Given the description of an element on the screen output the (x, y) to click on. 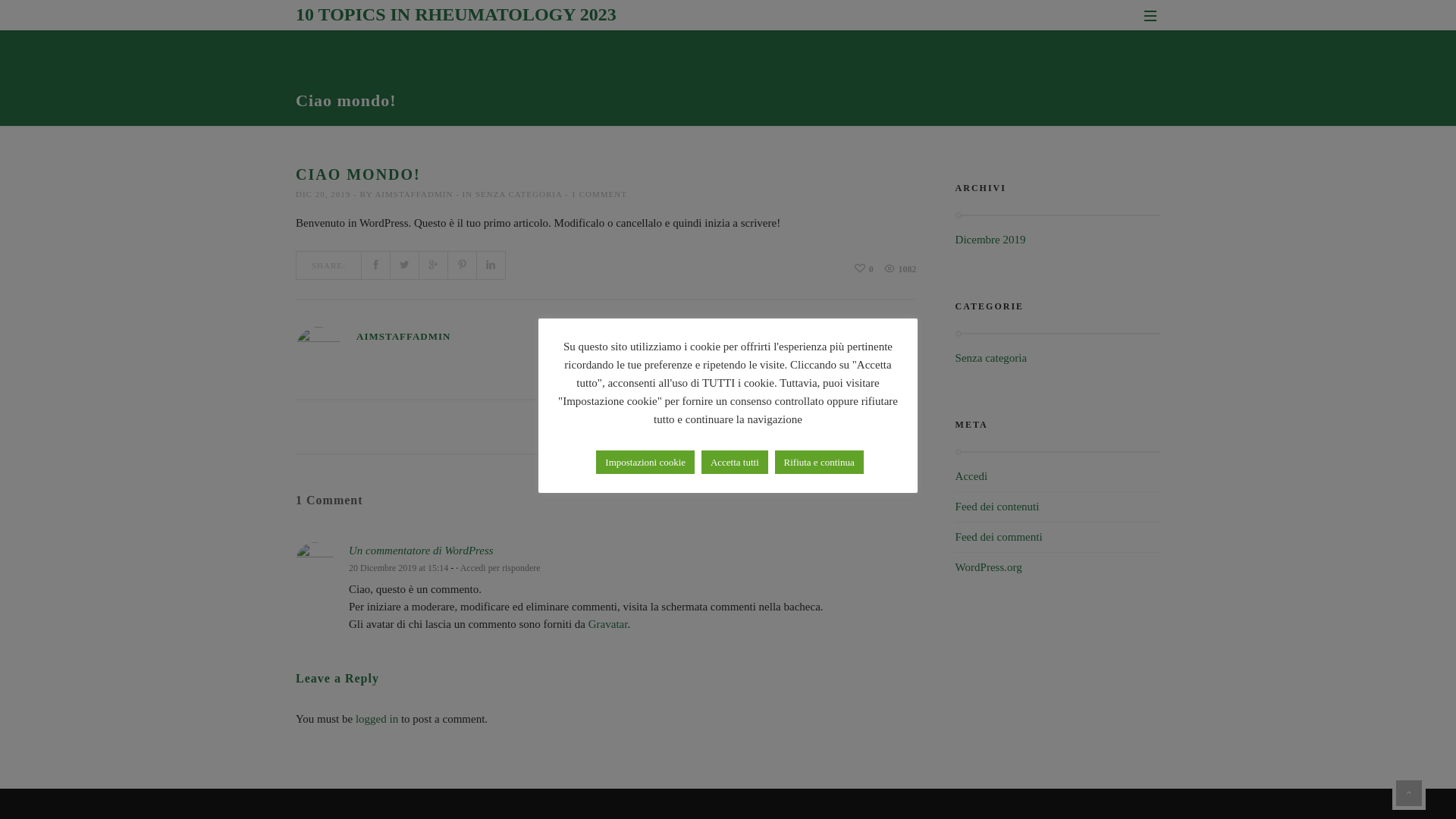
Gravatar Element type: text (607, 624)
20 Dicembre 2019 at 15:14 Element type: text (398, 567)
Accedi Element type: text (971, 476)
0 Element type: text (863, 268)
Accedi per rispondere Element type: text (500, 567)
Impostazioni cookie Element type: text (645, 461)
Un commentatore di WordPress Element type: text (420, 550)
Share on Facebook Element type: hover (375, 265)
Feed dei commenti Element type: text (998, 536)
Feed dei contenuti Element type: text (997, 506)
logged in Element type: text (376, 718)
Share on Google+ Element type: hover (433, 265)
Dicembre 2019 Element type: text (990, 239)
Share on Twitter Element type: hover (404, 265)
Accetta tutti Element type: text (734, 461)
1 COMMENT Element type: text (598, 193)
Share on Pinterest Element type: hover (462, 265)
10 TOPICS IN RHEUMATOLOGY 2023 Element type: text (455, 13)
SENZA CATEGORIA Element type: text (518, 193)
Rifiuta e continua Element type: text (819, 461)
WordPress.org Element type: text (988, 567)
Senza categoria Element type: text (991, 357)
Share on LinkedIn Element type: hover (490, 265)
AIMSTAFFADMIN Element type: text (413, 193)
